Given the description of an element on the screen output the (x, y) to click on. 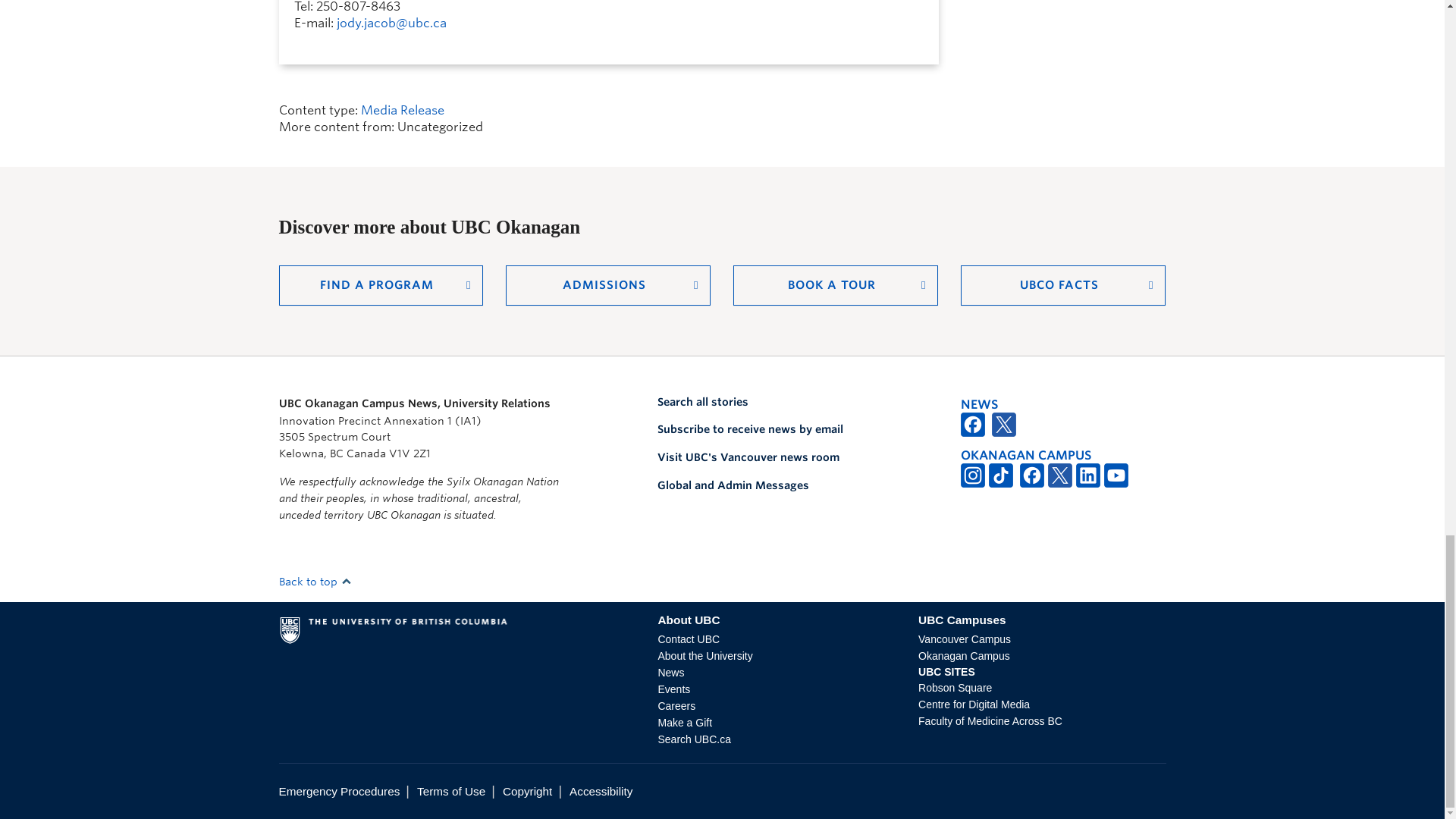
Accessibility (600, 790)
Terms of Use (450, 790)
Back to top (315, 581)
UBC Copyright (526, 790)
Emergency Procedures (339, 790)
